Given the description of an element on the screen output the (x, y) to click on. 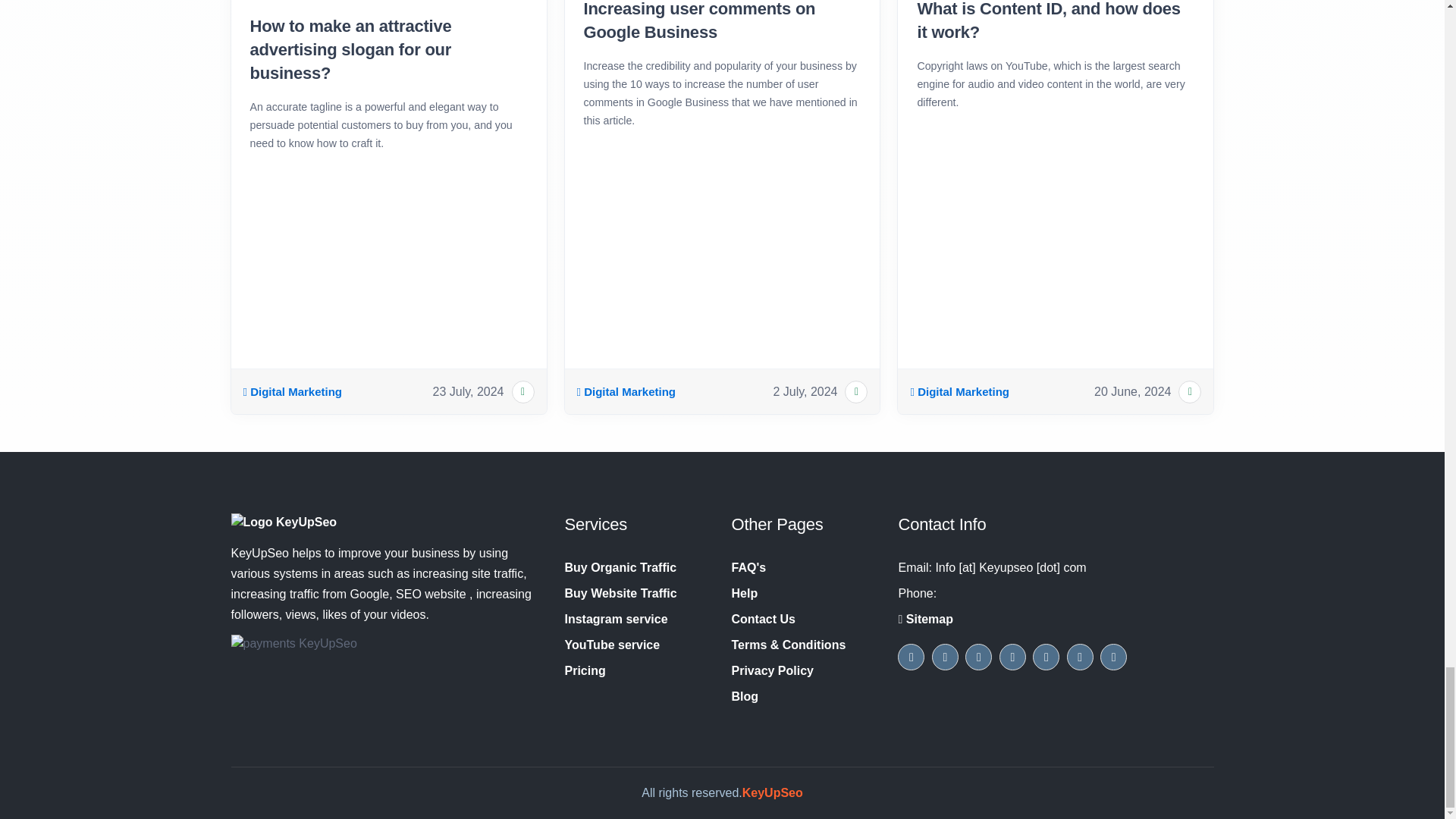
What is Content ID, and how does it work? (1055, 22)
Increasing user comments on Google Business (722, 22)
SEO (292, 392)
Increasing user comments on Google Business (722, 22)
YouTube service (611, 645)
FAQ's (747, 567)
Pricing (584, 670)
SEO (625, 392)
Instagram service (615, 619)
